Given the description of an element on the screen output the (x, y) to click on. 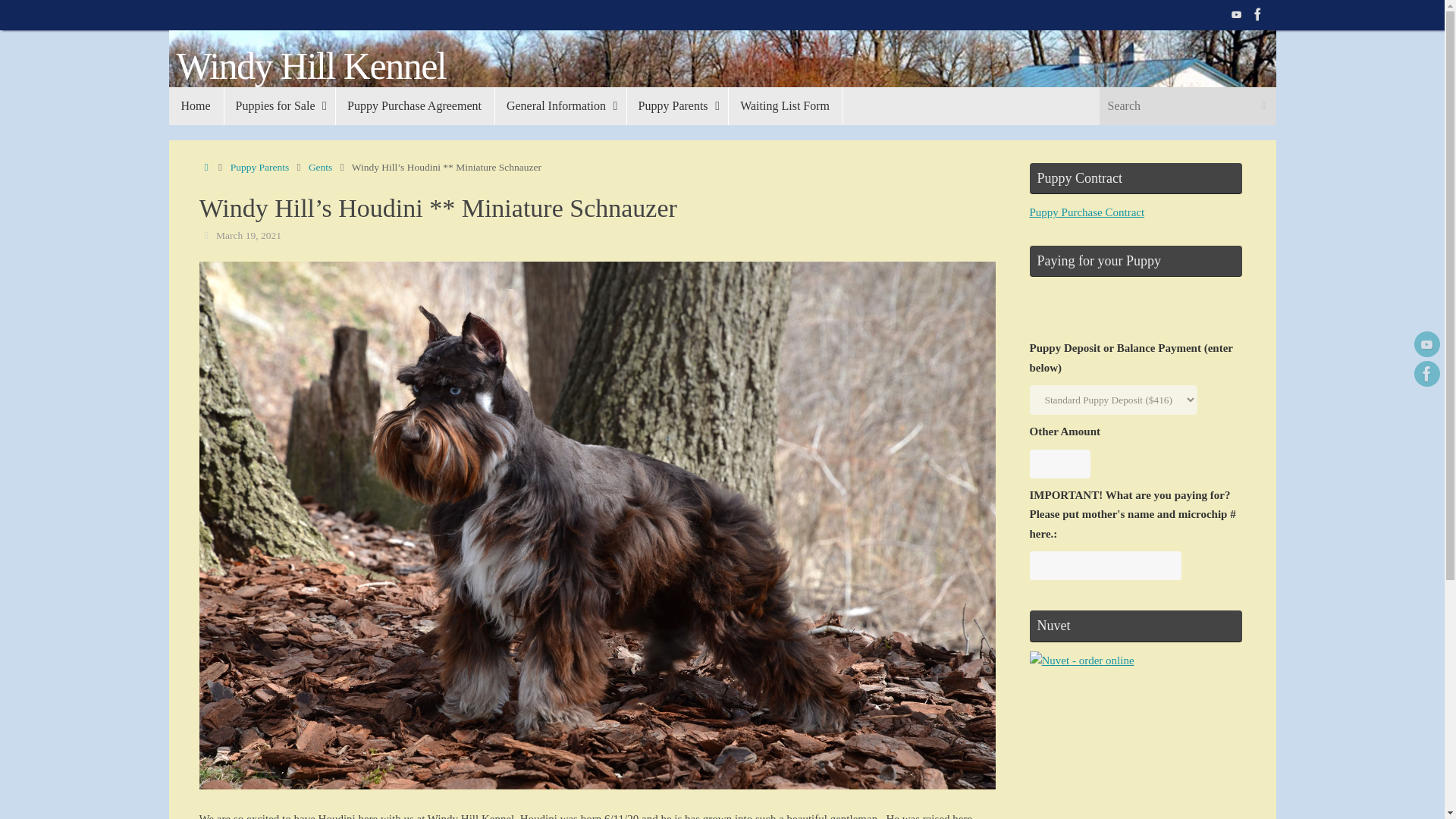
Puppy Parents (677, 105)
Facebook (1426, 373)
Puppy Parents (259, 166)
Gents (320, 166)
Home (205, 166)
General Information (560, 105)
Puppy Purchase Agreement (414, 105)
Windy Hill Kennel (310, 65)
Windy Hill Kennel (310, 65)
